Given the description of an element on the screen output the (x, y) to click on. 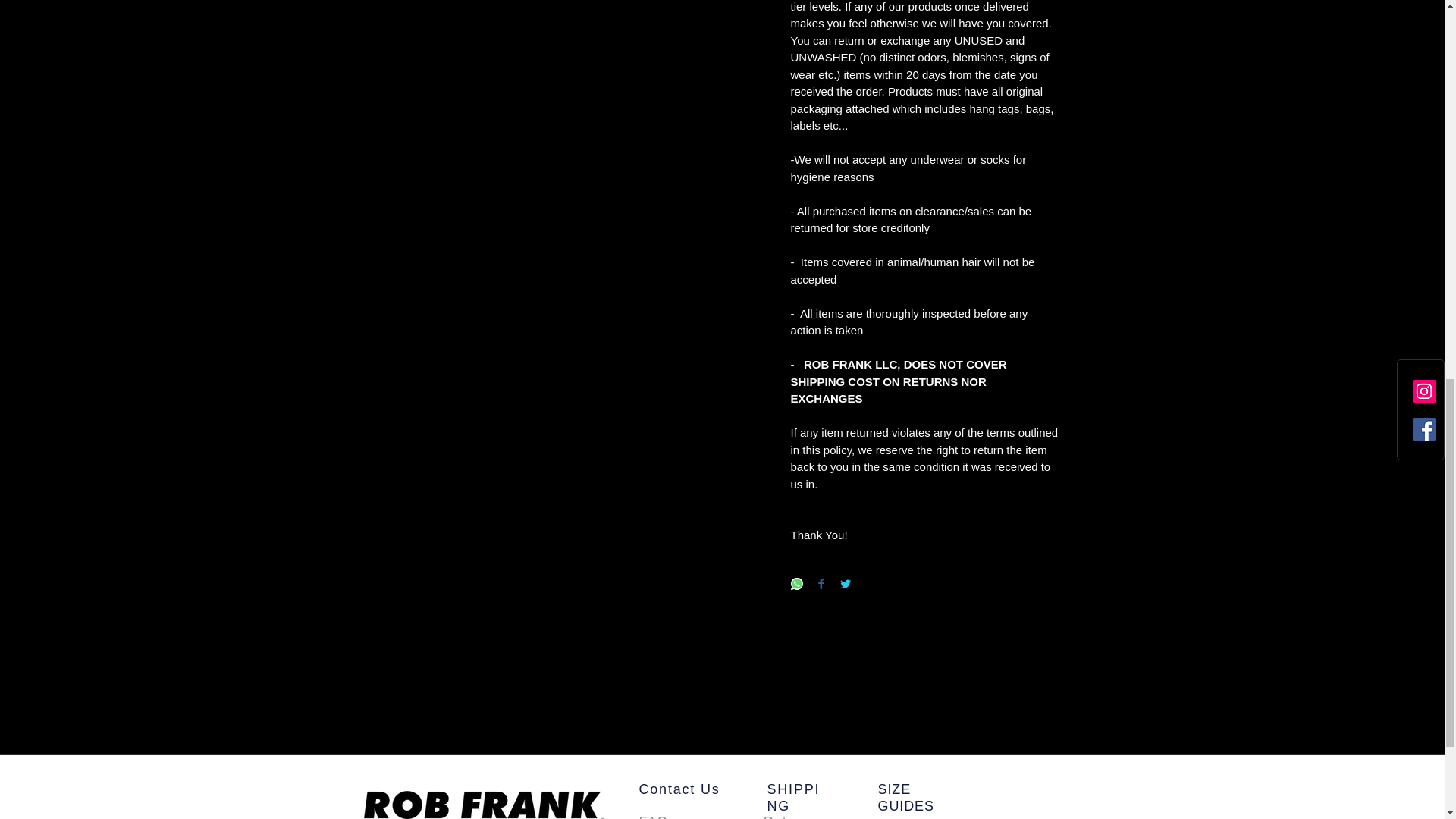
Returns (788, 816)
Contact Us (679, 789)
RF NAME FILE OG black.png (483, 801)
FAQ (653, 816)
SIZE GUIDES (905, 798)
SHIPPING (794, 798)
